Given the description of an element on the screen output the (x, y) to click on. 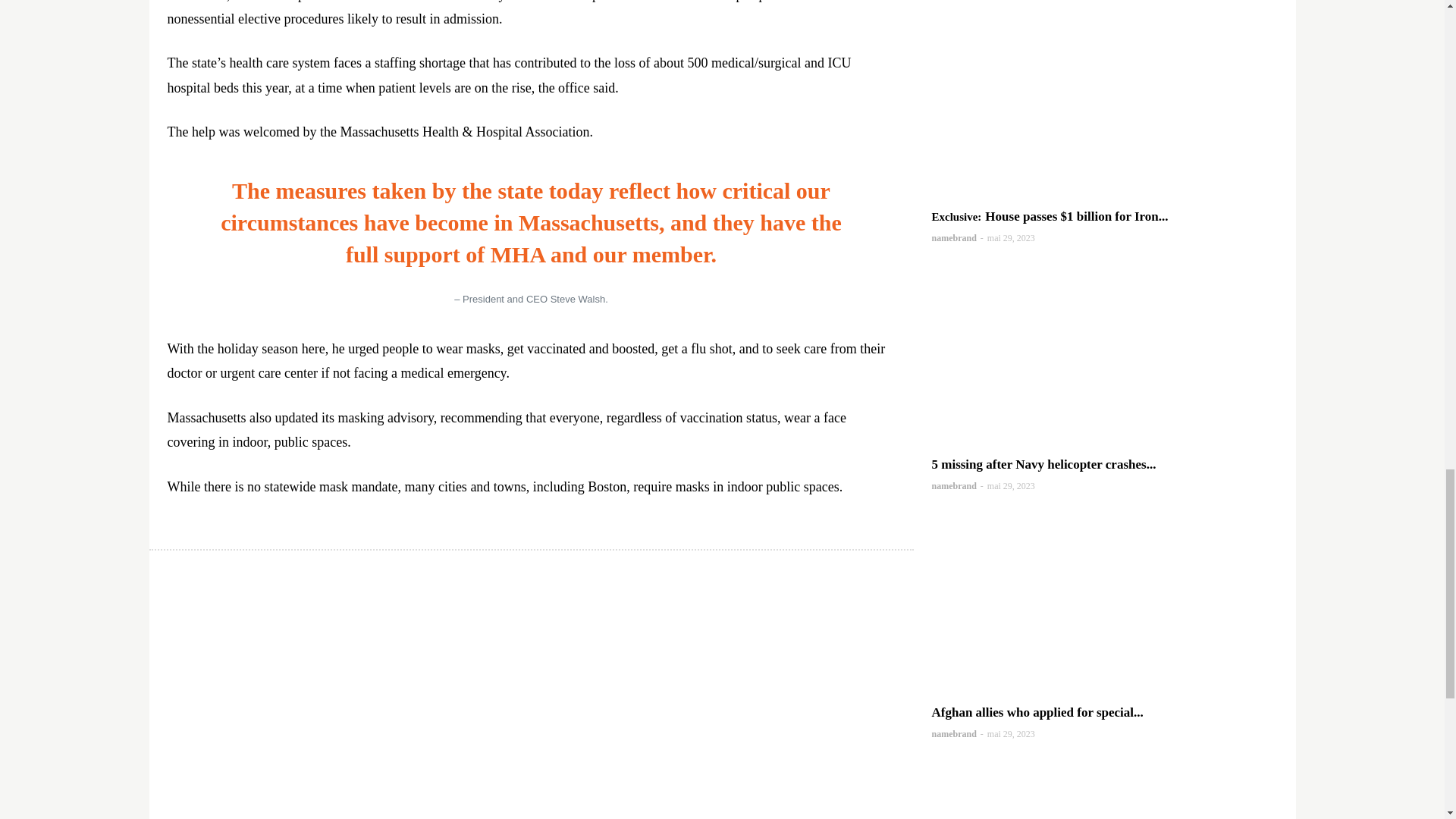
namebrand (953, 485)
Afghan allies who applied for special... (1036, 712)
namebrand (953, 733)
5 missing after Navy helicopter crashes... (1043, 464)
namebrand (953, 237)
